Given the description of an element on the screen output the (x, y) to click on. 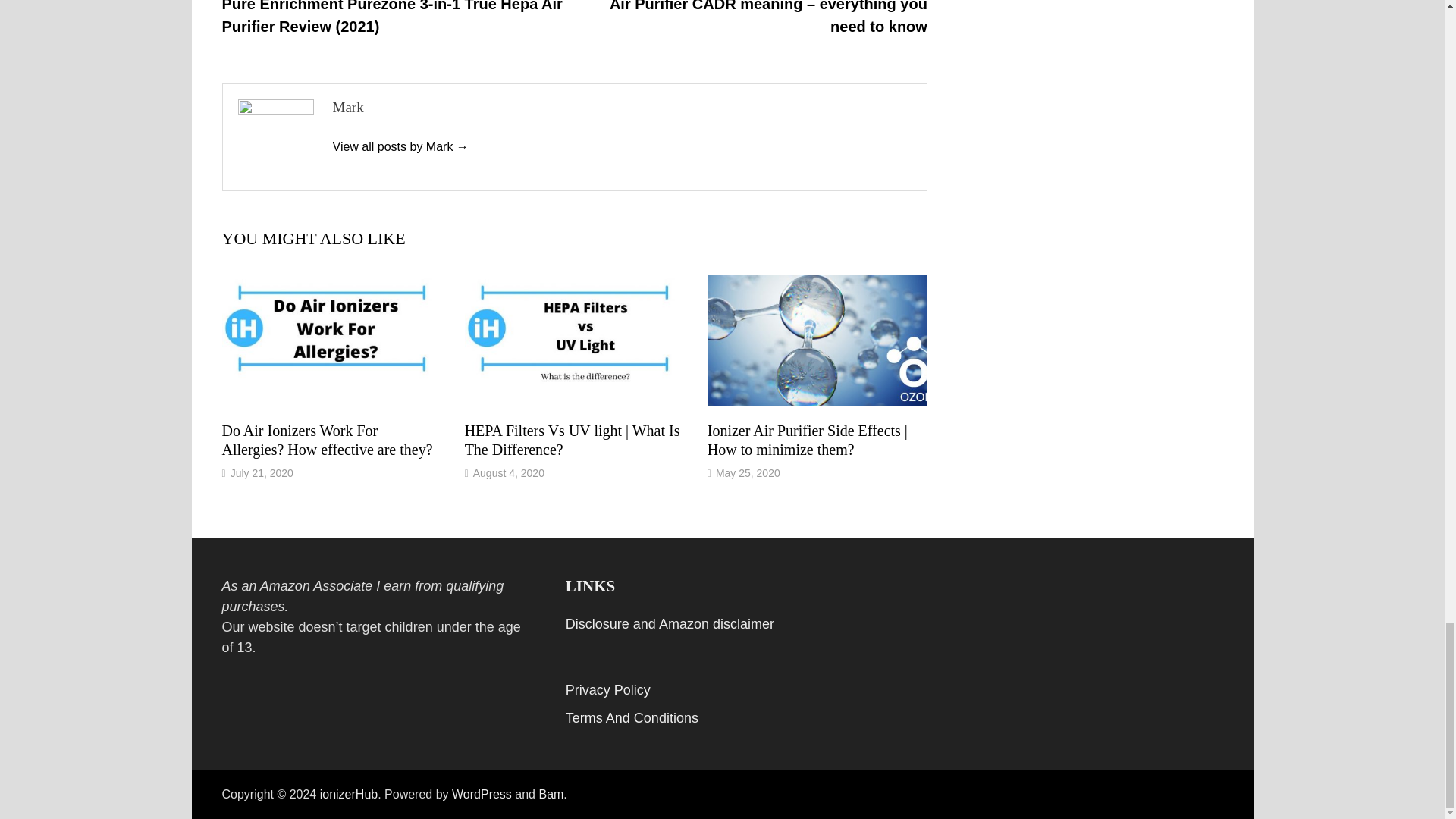
July 21, 2020 (262, 472)
Mark (399, 146)
August 4, 2020 (508, 472)
Do Air Ionizers Work For Allergies? How effective are they? (326, 439)
Do Air Ionizers Work For Allergies? How effective are they? (326, 439)
May 25, 2020 (748, 472)
